Given the description of an element on the screen output the (x, y) to click on. 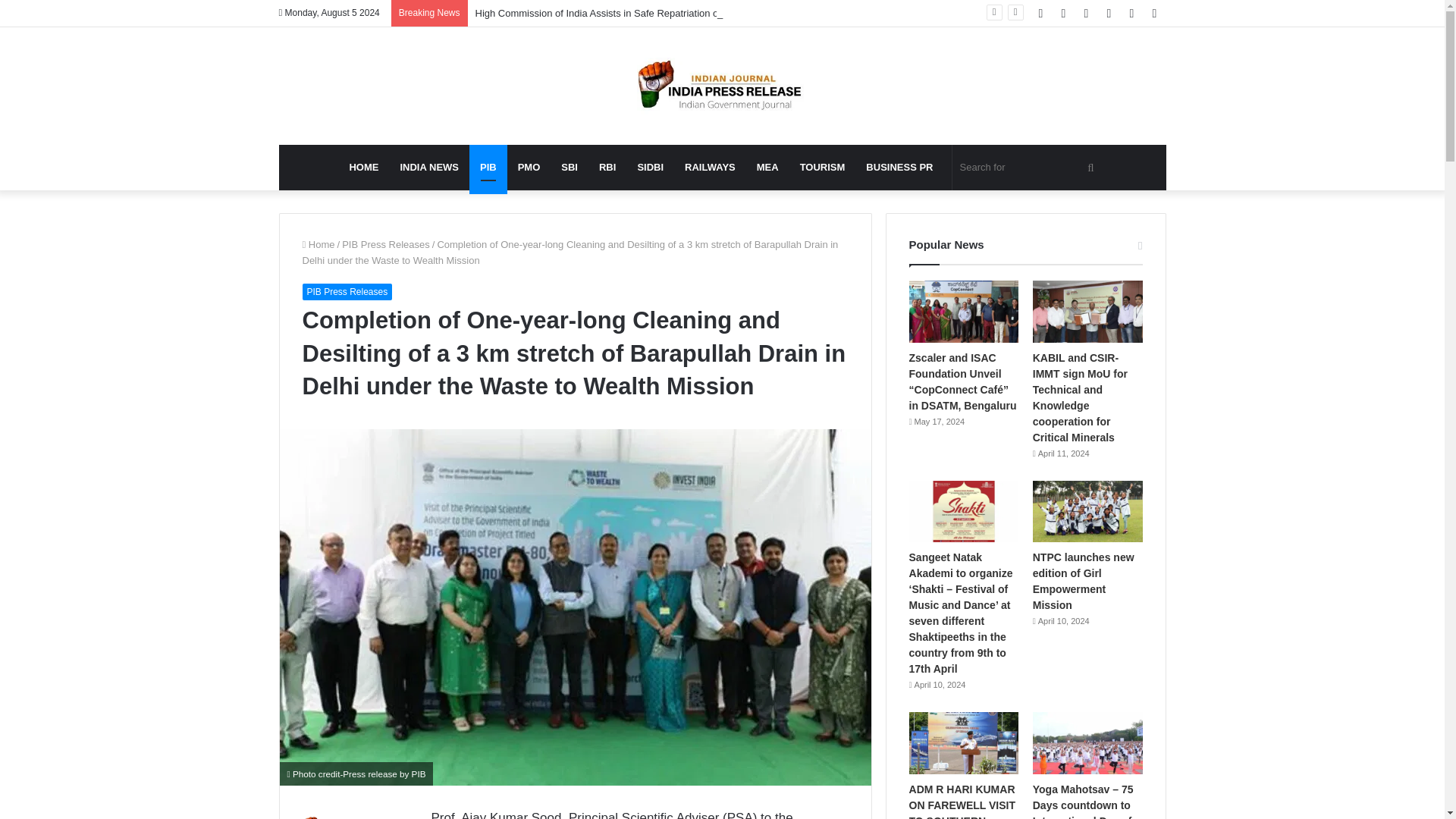
Search for (1029, 167)
RAILWAYS (709, 167)
MEA (767, 167)
SIDBI (650, 167)
Indian Government Official Press Release (722, 85)
BUSINESS PR (899, 167)
PIB Press Releases (385, 244)
TOURISM (822, 167)
INDIA NEWS (428, 167)
HOME (362, 167)
Home (317, 244)
PMO (528, 167)
PIB Press Releases (346, 291)
